Given the description of an element on the screen output the (x, y) to click on. 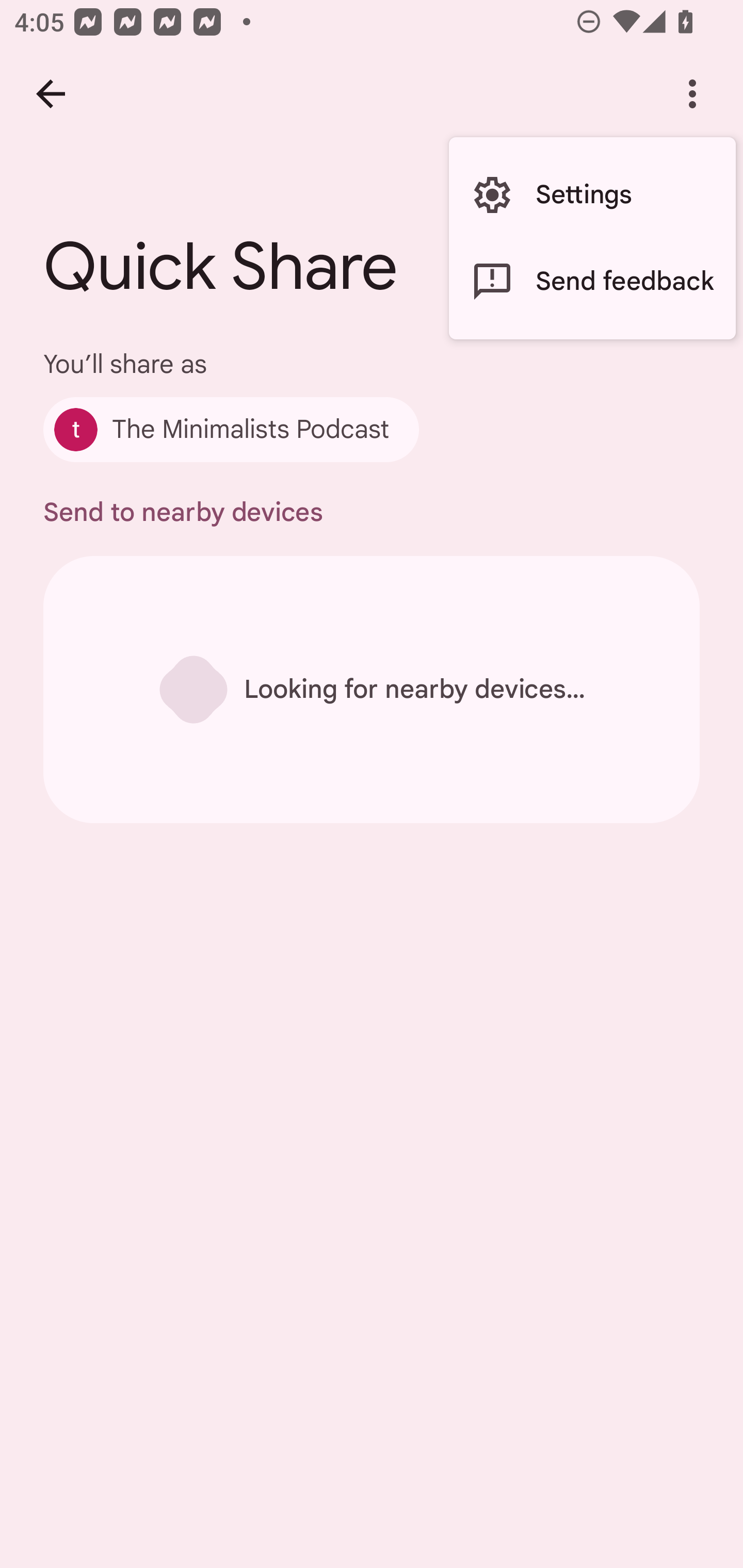
Settings (591, 195)
Send feedback (591, 281)
